Given the description of an element on the screen output the (x, y) to click on. 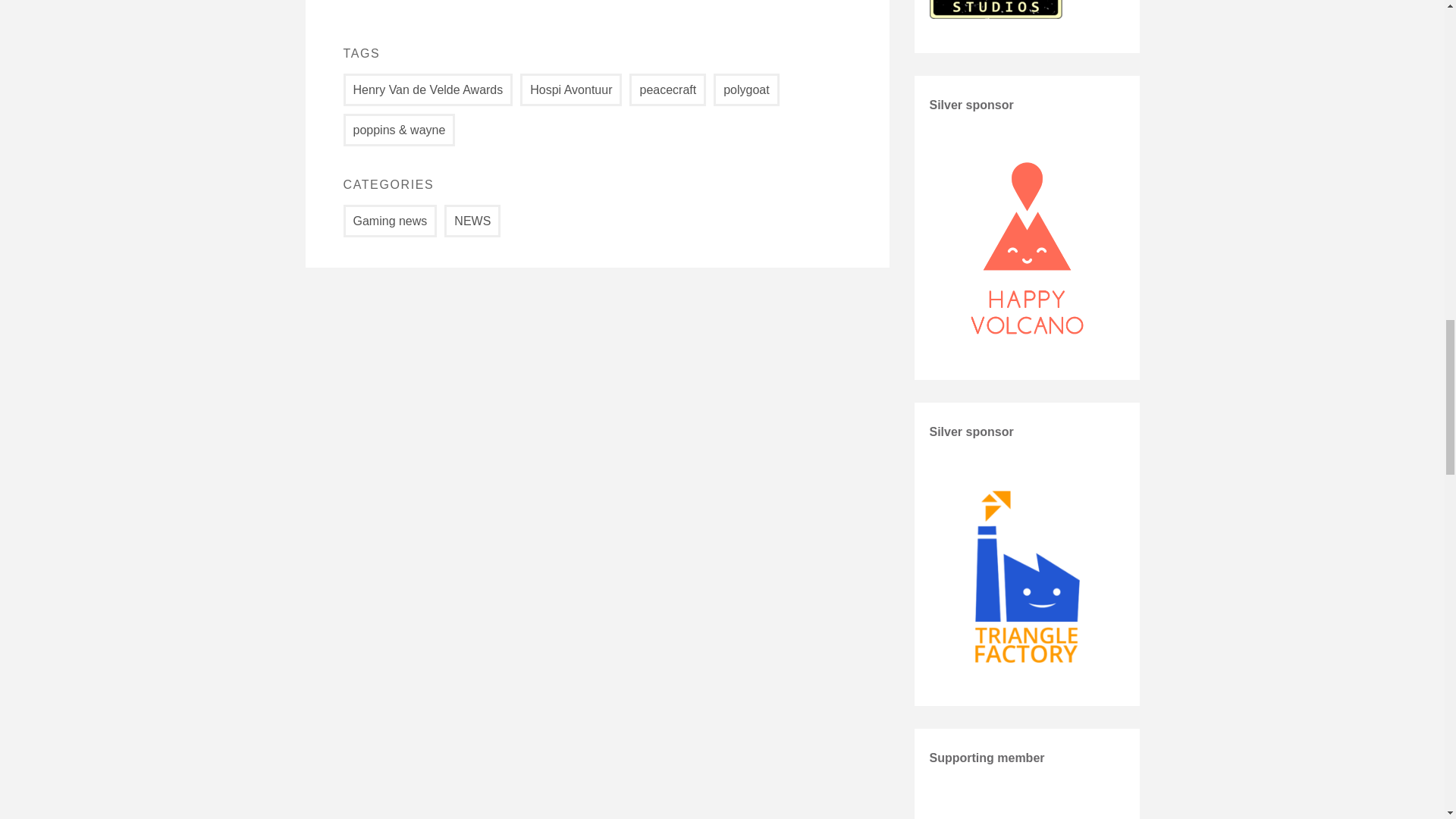
Gaming news (389, 220)
Henry Van de Velde Awards (427, 89)
peacecraft (667, 89)
Like or Reblog (596, 7)
polygoat (745, 89)
NEWS (472, 220)
Hospi Avontuur (570, 89)
